Given the description of an element on the screen output the (x, y) to click on. 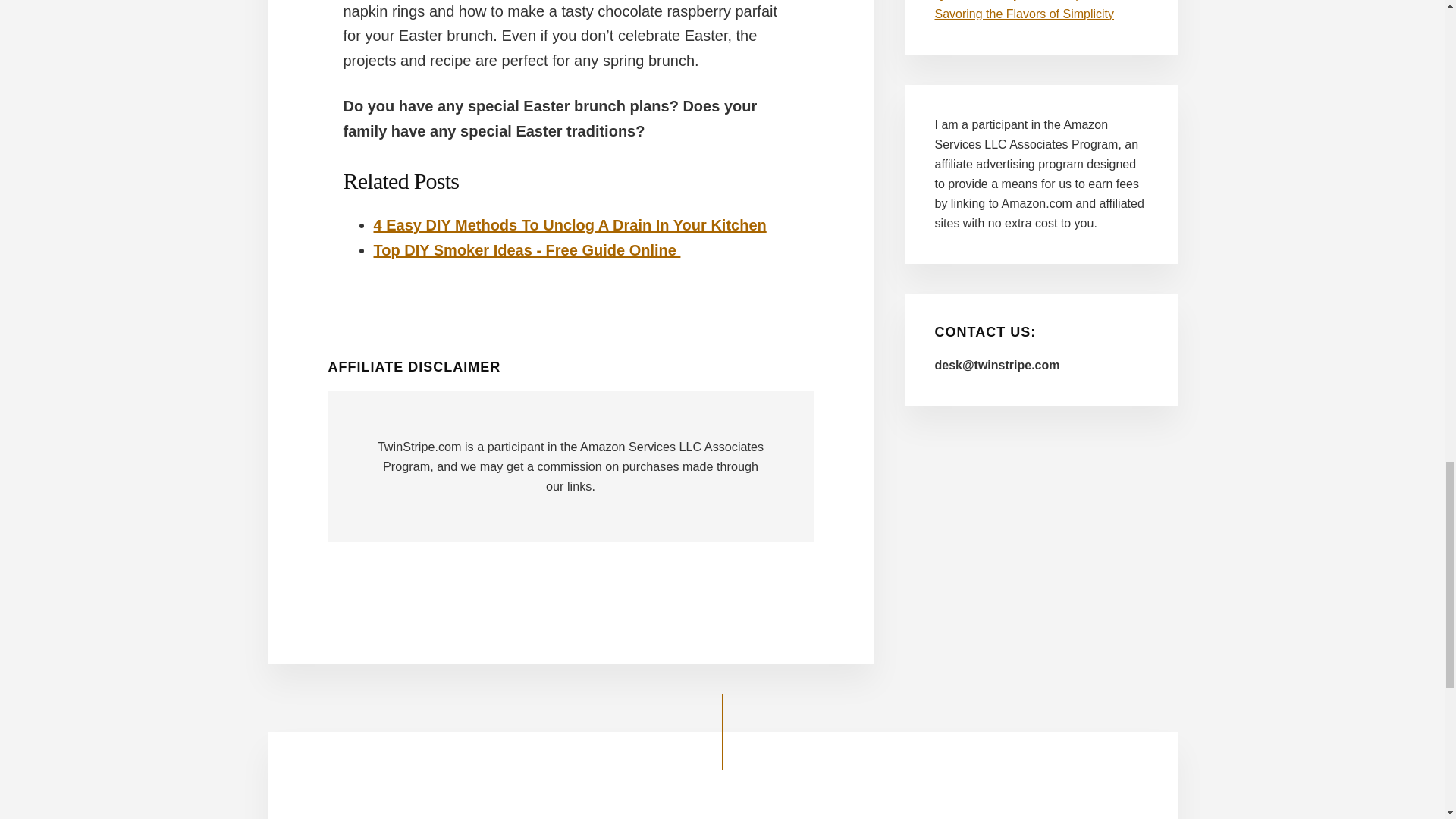
Top DIY Smoker Ideas - Free Guide Online  (525, 249)
4 Easy DIY Methods To Unclog A Drain In Your Kitchen (568, 225)
